Given the description of an element on the screen output the (x, y) to click on. 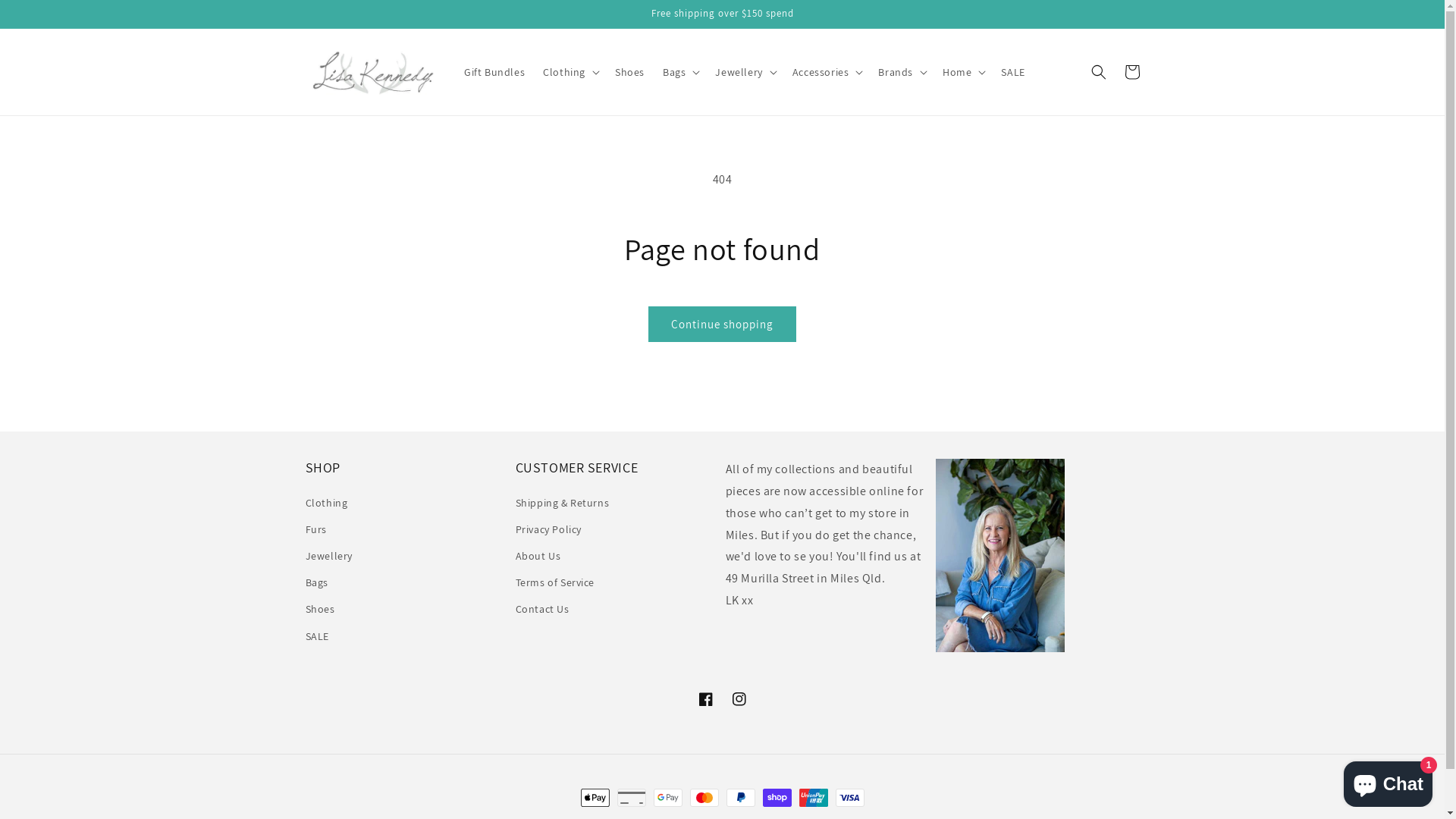
SALE Element type: text (1012, 71)
SALE Element type: text (316, 636)
Shopify online store chat Element type: hover (1388, 780)
Shoes Element type: text (319, 609)
Terms of Service Element type: text (555, 582)
Shoes Element type: text (629, 71)
Shipping & Returns Element type: text (562, 504)
Clothing Element type: text (325, 504)
Contact Us Element type: text (542, 609)
Privacy Policy Element type: text (548, 529)
Continue shopping Element type: text (722, 324)
Jewellery Element type: text (327, 555)
Gift Bundles Element type: text (494, 71)
Facebook Element type: text (704, 698)
About Us Element type: text (538, 555)
Bags Element type: text (315, 582)
Furs Element type: text (315, 529)
Cart Element type: text (1131, 71)
Instagram Element type: text (738, 698)
